Given the description of an element on the screen output the (x, y) to click on. 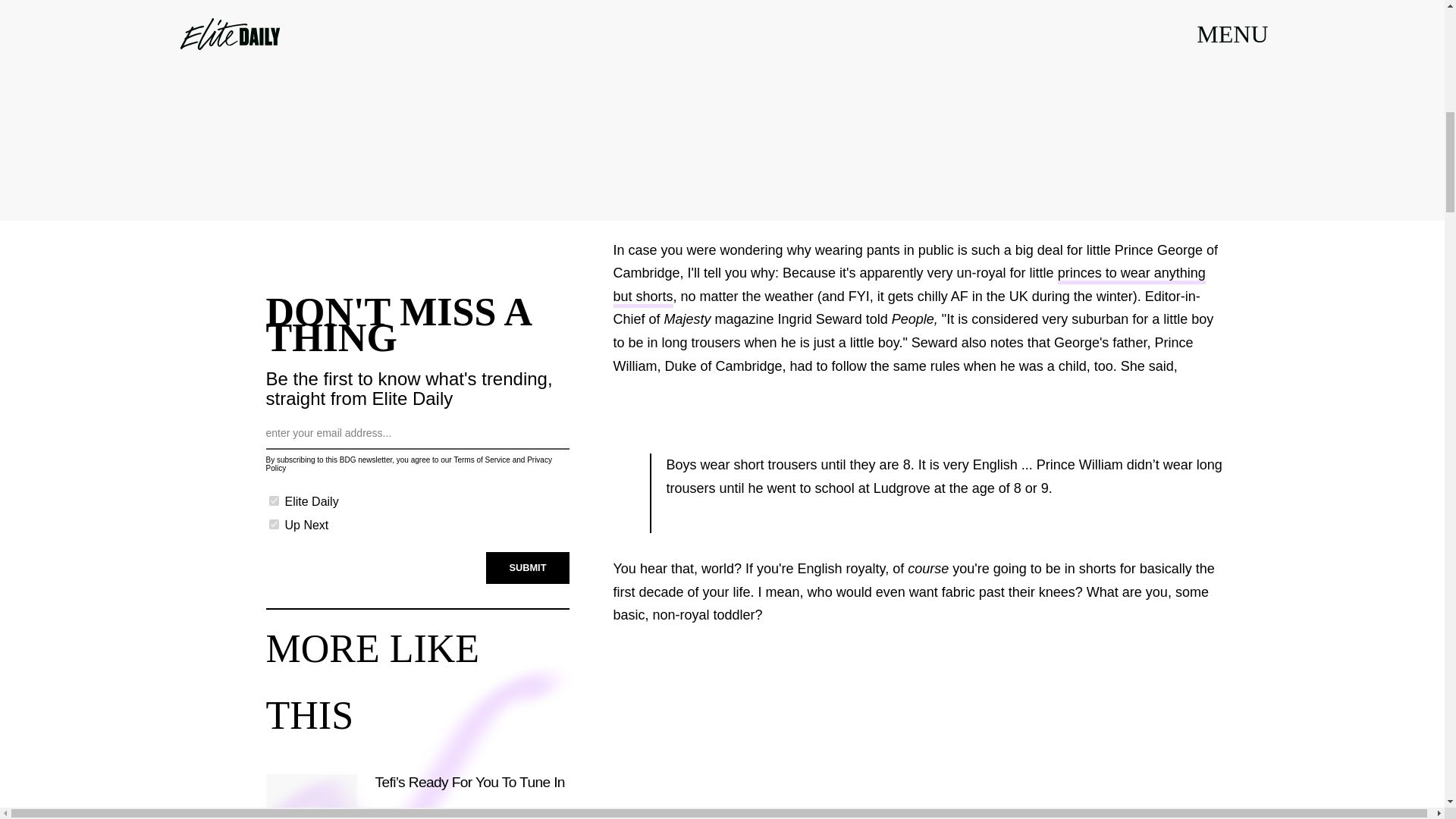
Privacy Policy (407, 463)
princes to wear anything but shorts (908, 286)
Terms of Service (480, 459)
SUBMIT (527, 566)
